Given the description of an element on the screen output the (x, y) to click on. 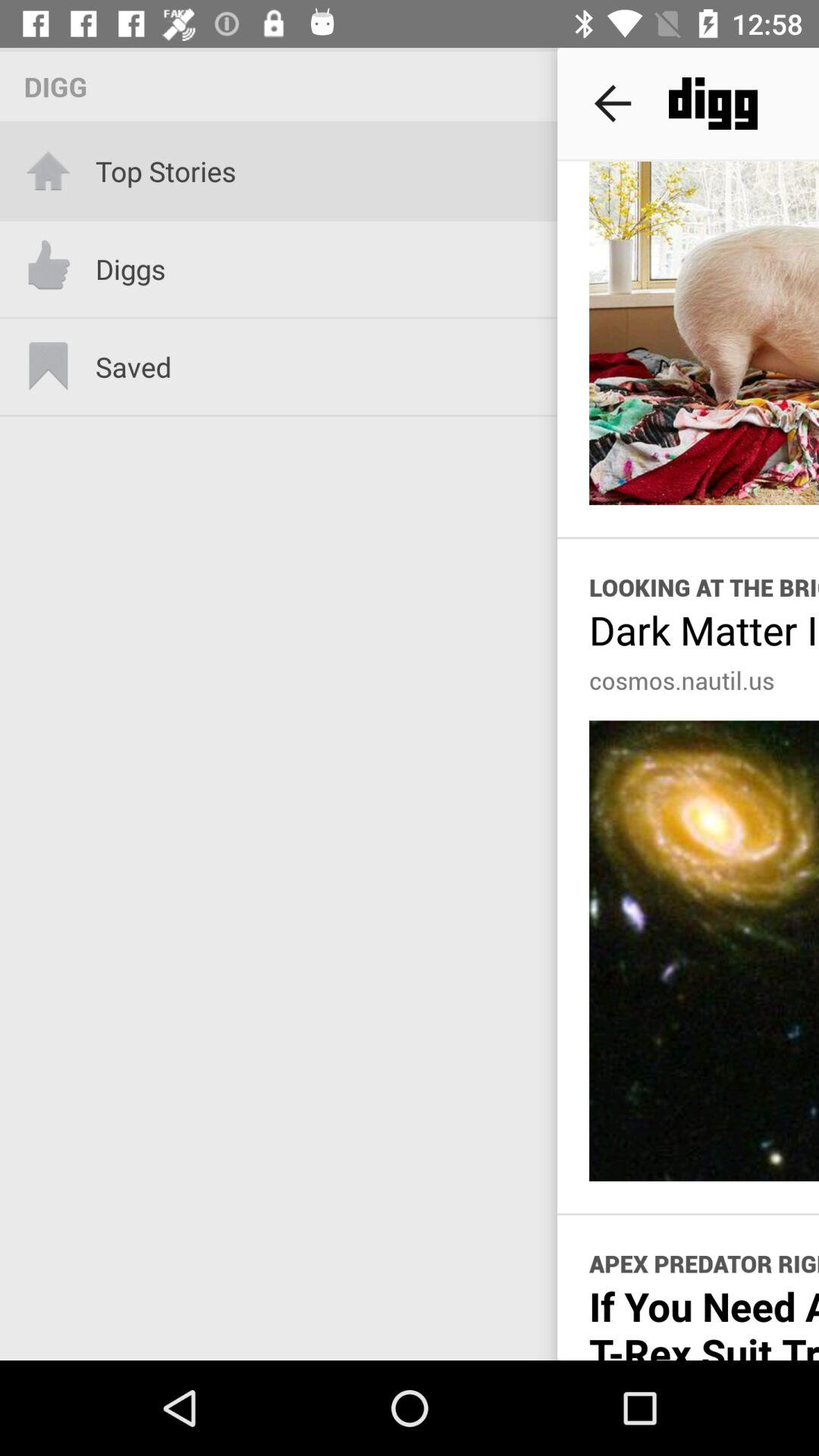
turn off item above the dark matter is icon (704, 587)
